Given the description of an element on the screen output the (x, y) to click on. 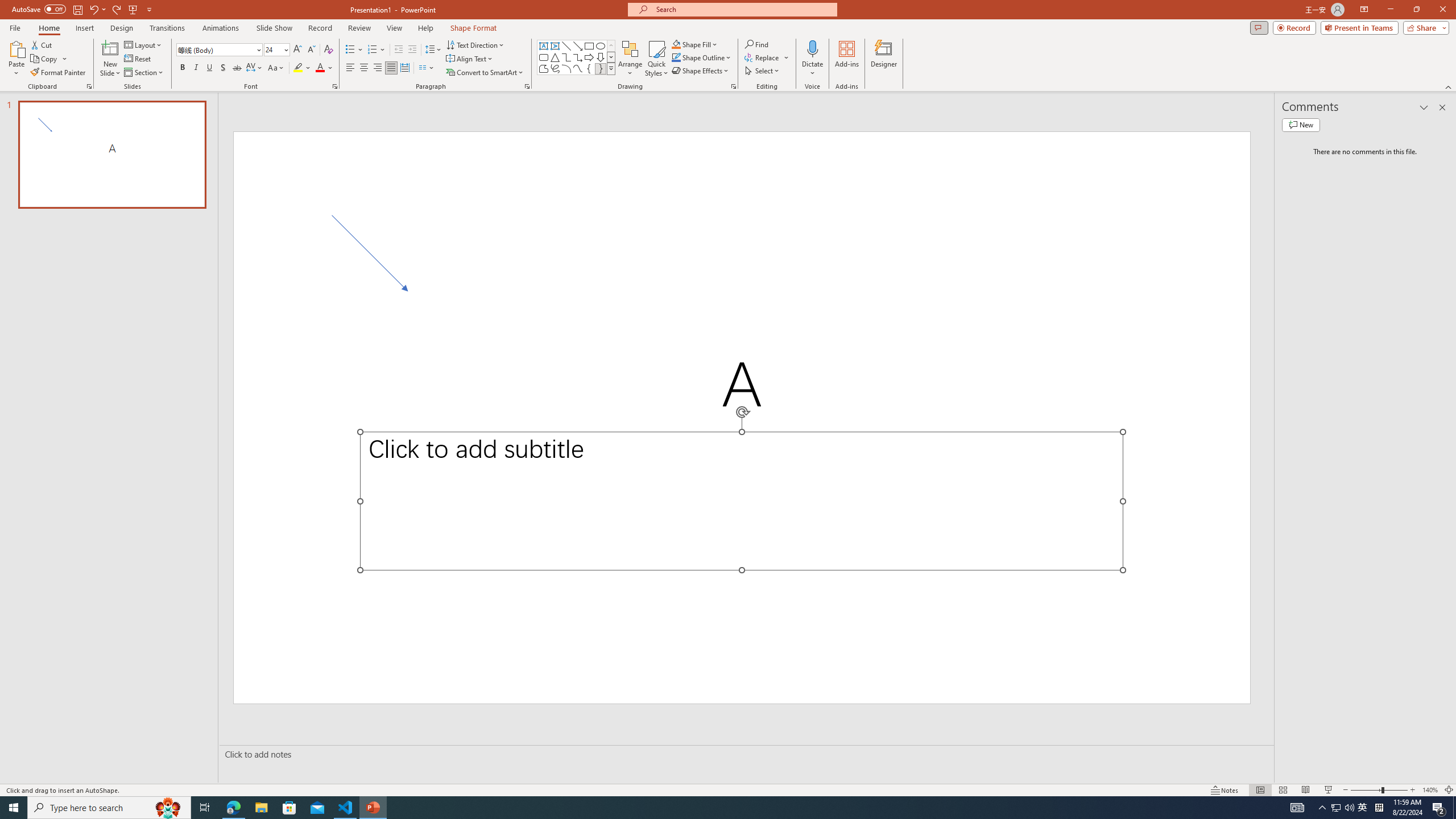
Shape Outline Blue, Accent 1 (675, 56)
